Given the description of an element on the screen output the (x, y) to click on. 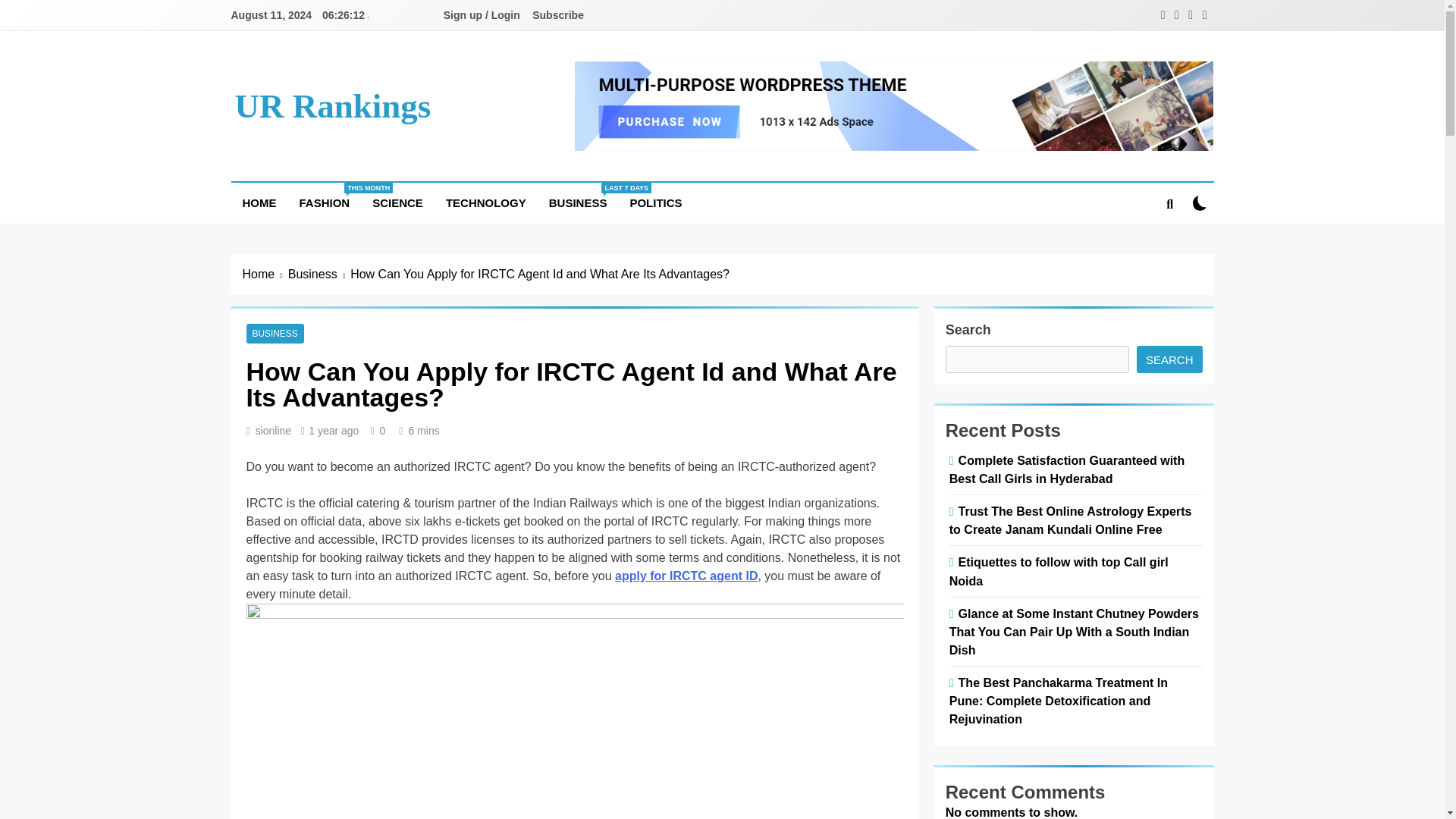
Business (324, 202)
Subscribe (319, 274)
UR Rankings (557, 15)
SCIENCE (332, 105)
POLITICS (397, 202)
Home (655, 202)
on (265, 274)
HOME (577, 202)
